Given the description of an element on the screen output the (x, y) to click on. 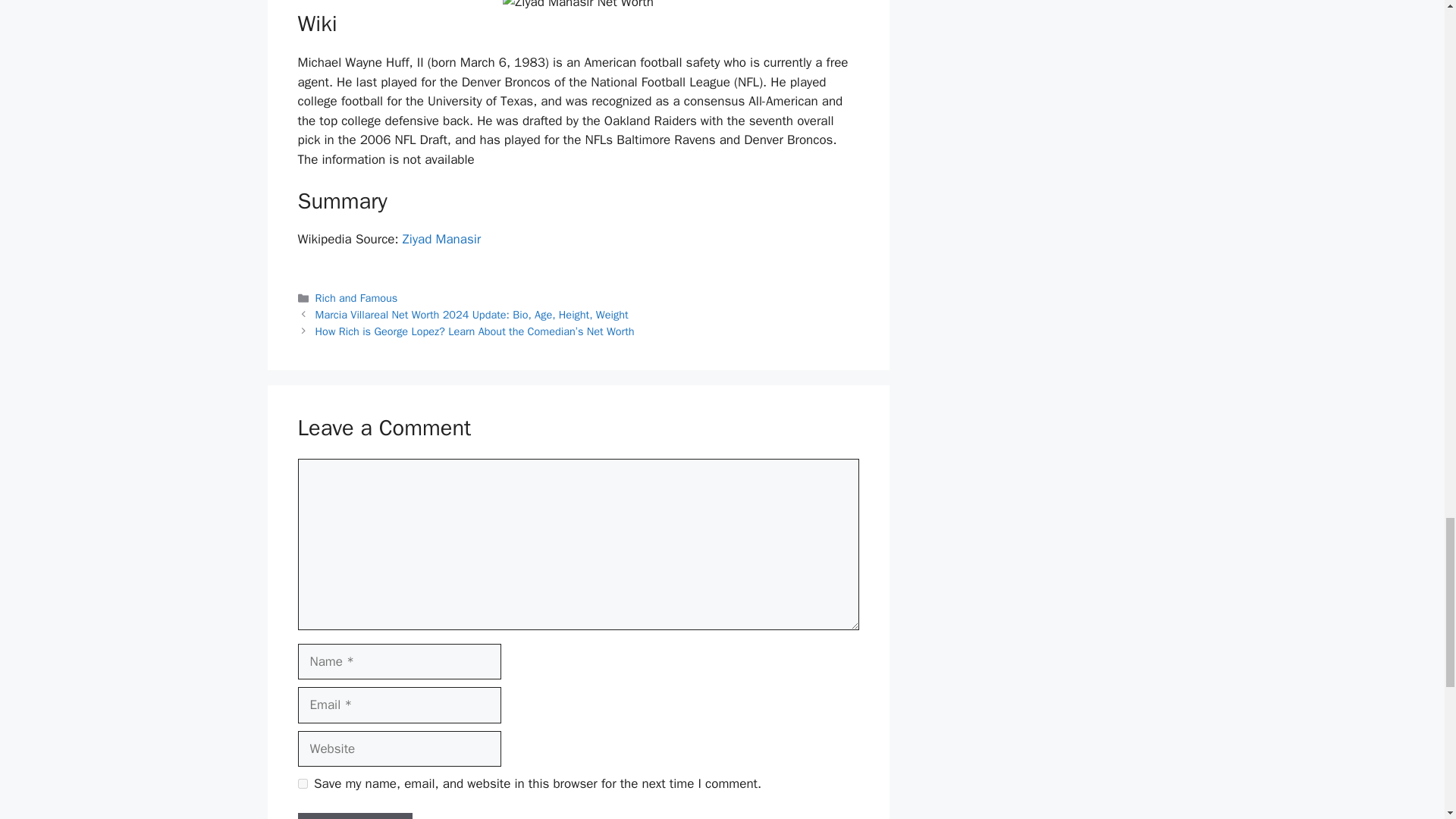
Ziyad Manasir (442, 238)
Post Comment (354, 816)
Post Comment (354, 816)
Rich and Famous (356, 297)
yes (302, 783)
